Given the description of an element on the screen output the (x, y) to click on. 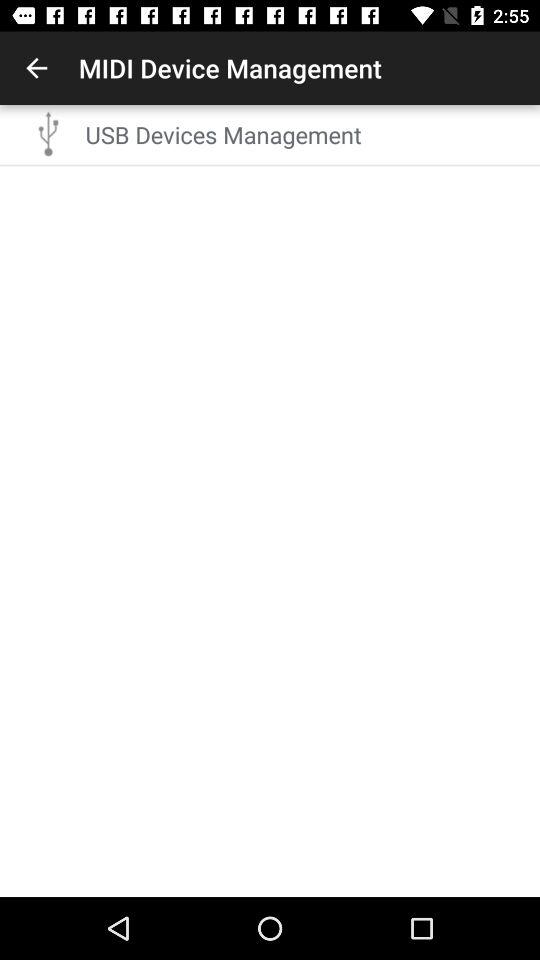
select the item next to the usb devices management item (49, 134)
